Given the description of an element on the screen output the (x, y) to click on. 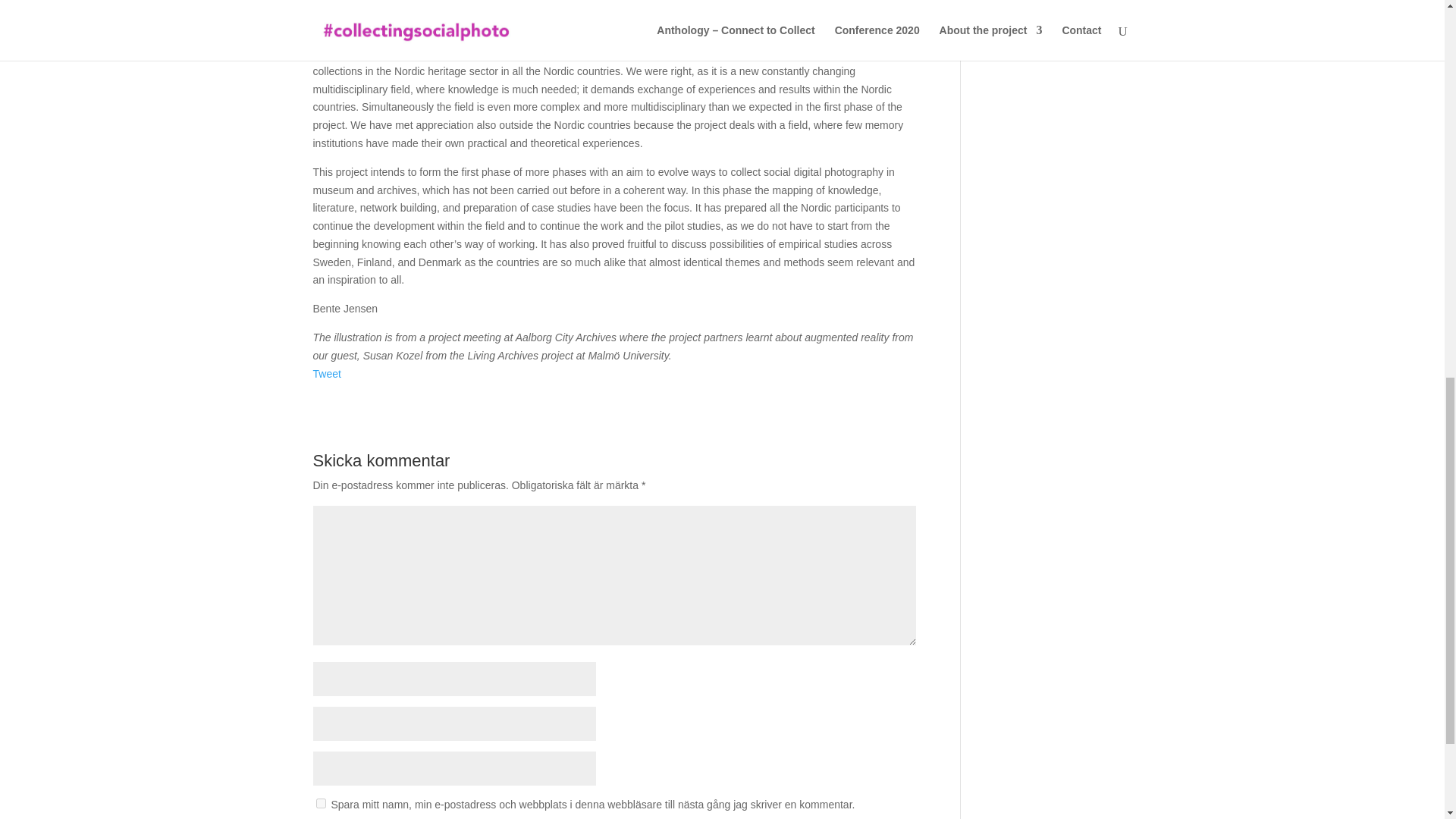
Tweet (326, 373)
yes (319, 803)
